Given the description of an element on the screen output the (x, y) to click on. 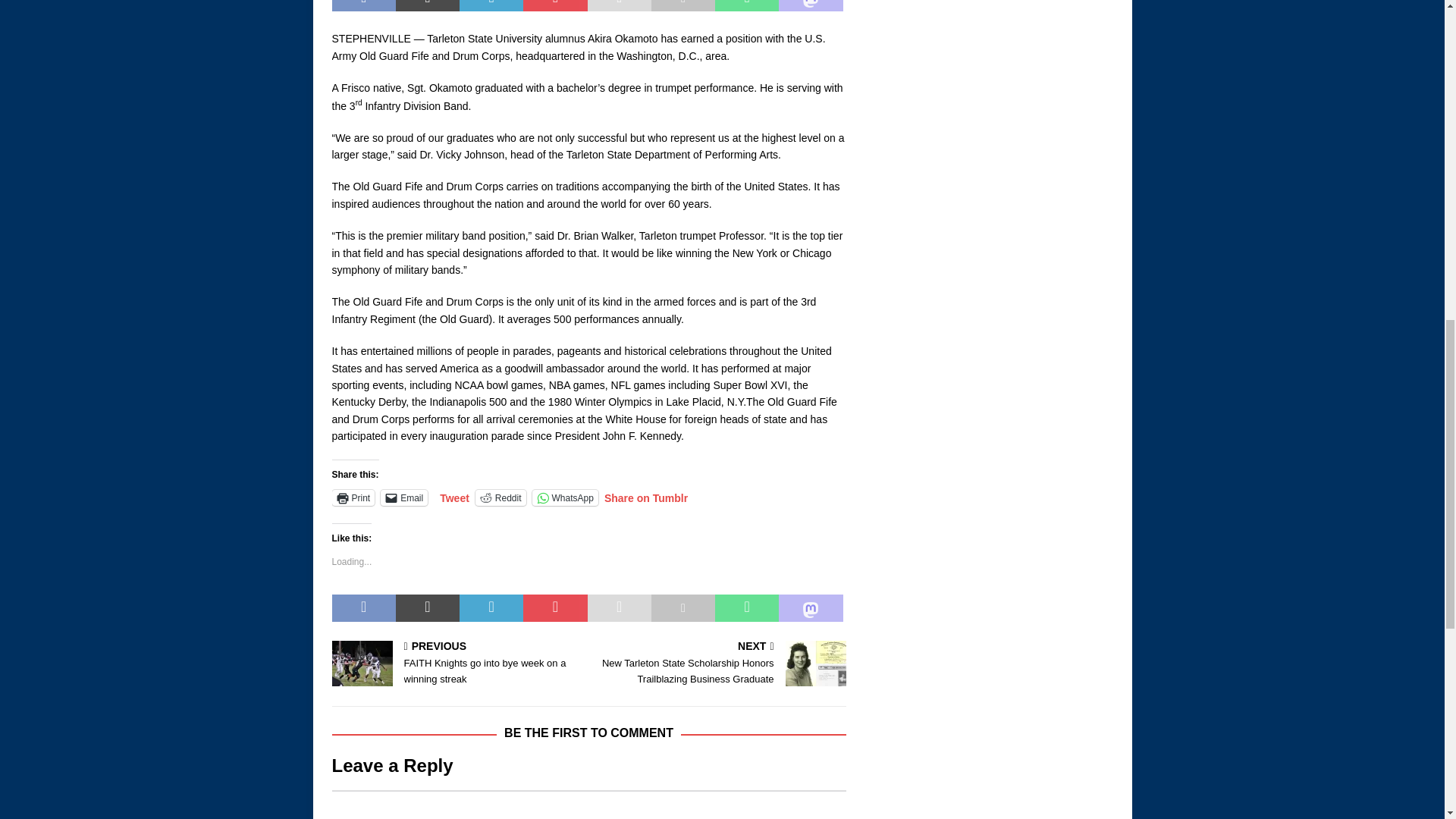
Send this article to a friend (619, 6)
Pin This Post (554, 6)
Print (353, 497)
WhatsApp (565, 497)
Tweet (453, 496)
Print this article (682, 6)
Share on LinkedIn (491, 6)
Share on Whatsapp (746, 6)
Email (404, 497)
Reddit (500, 497)
